Given the description of an element on the screen output the (x, y) to click on. 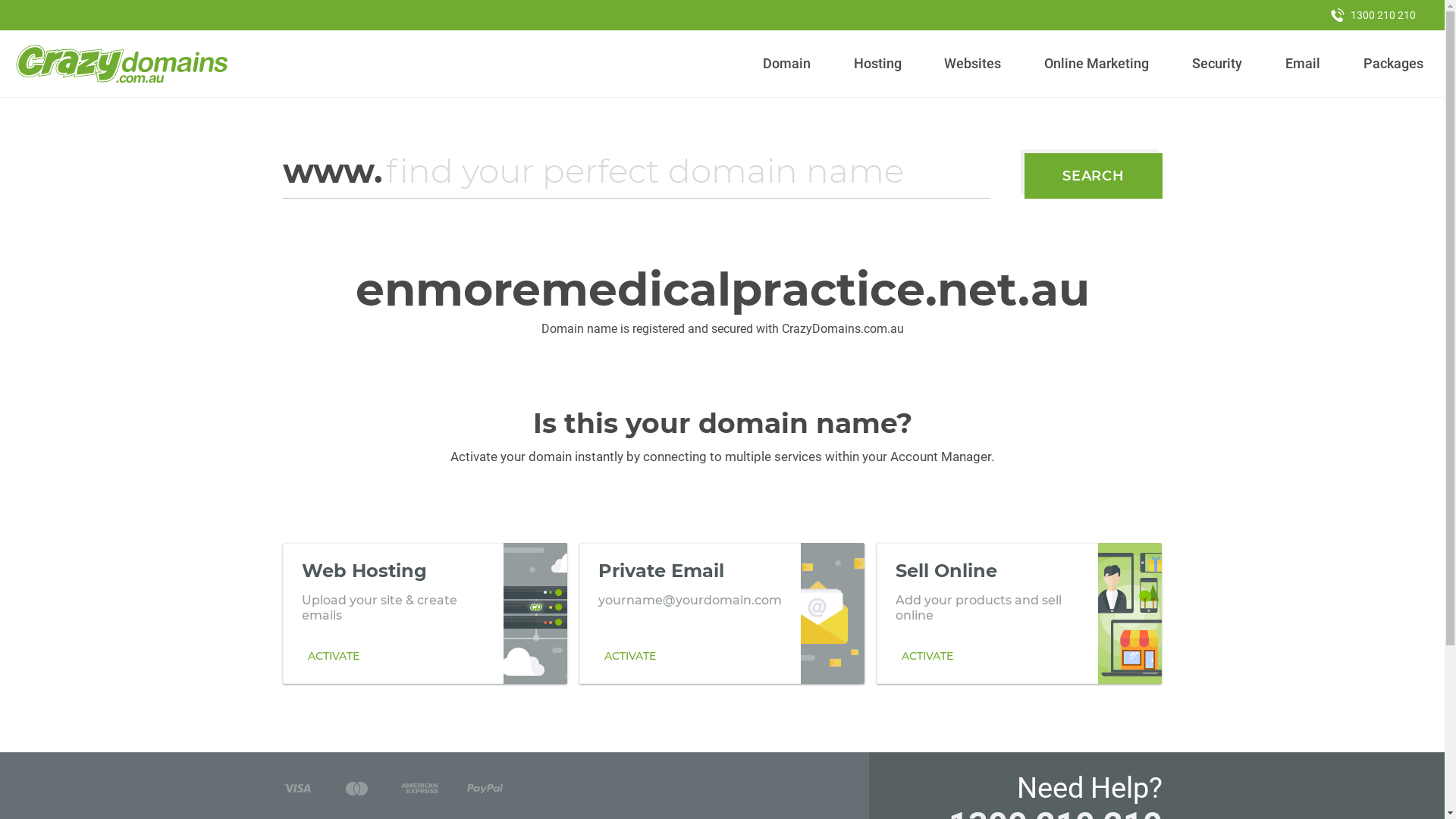
Security Element type: text (1217, 63)
Packages Element type: text (1392, 63)
Domain Element type: text (786, 63)
SEARCH Element type: text (1092, 175)
Sell Online
Add your products and sell online
ACTIVATE Element type: text (1018, 613)
Websites Element type: text (972, 63)
Online Marketing Element type: text (1096, 63)
Hosting Element type: text (877, 63)
1300 210 210 Element type: text (1373, 15)
Email Element type: text (1302, 63)
Private Email
yourname@yourdomain.com
ACTIVATE Element type: text (721, 613)
Web Hosting
Upload your site & create emails
ACTIVATE Element type: text (424, 613)
